Given the description of an element on the screen output the (x, y) to click on. 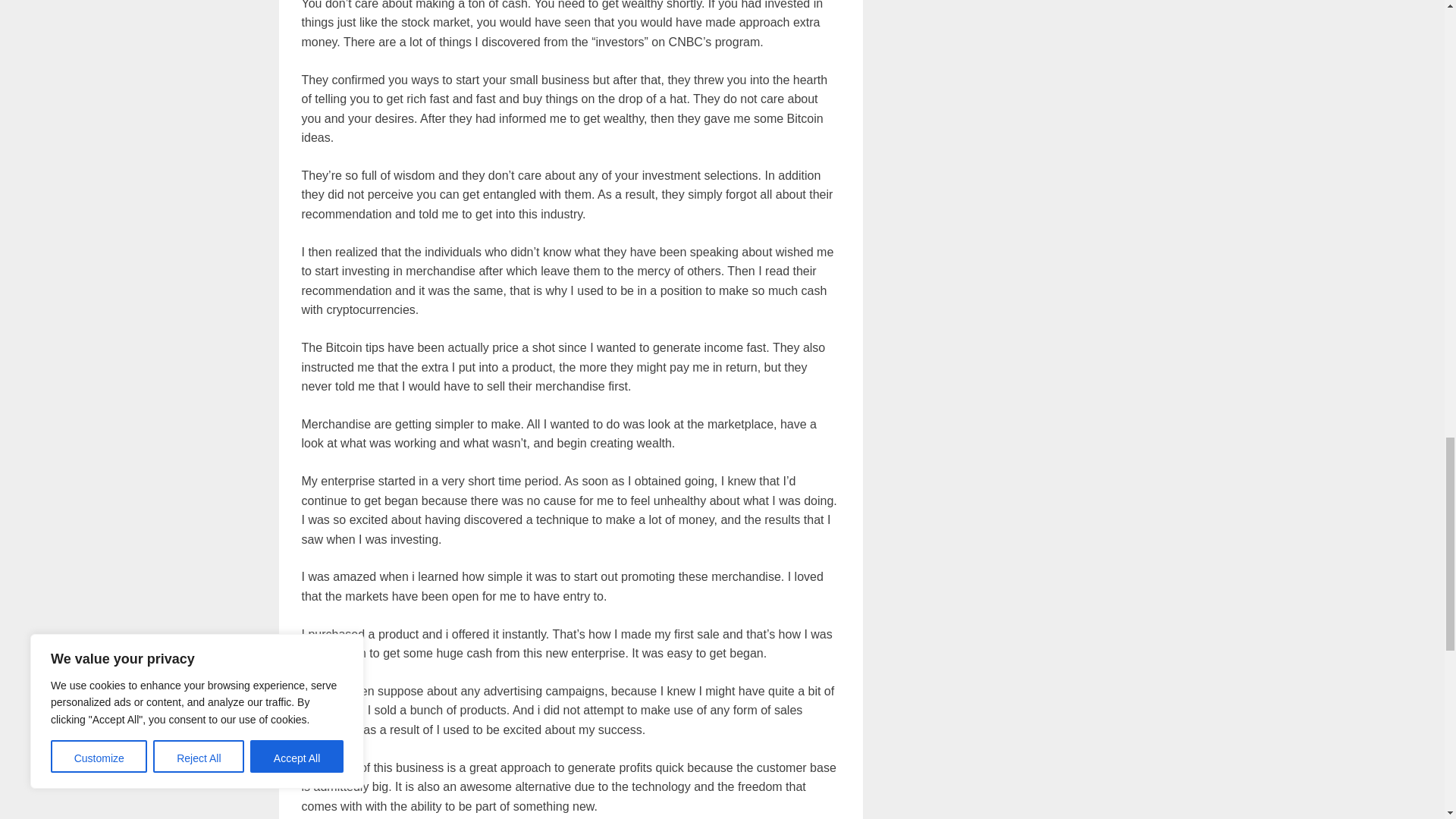
consumers (331, 709)
